Given the description of an element on the screen output the (x, y) to click on. 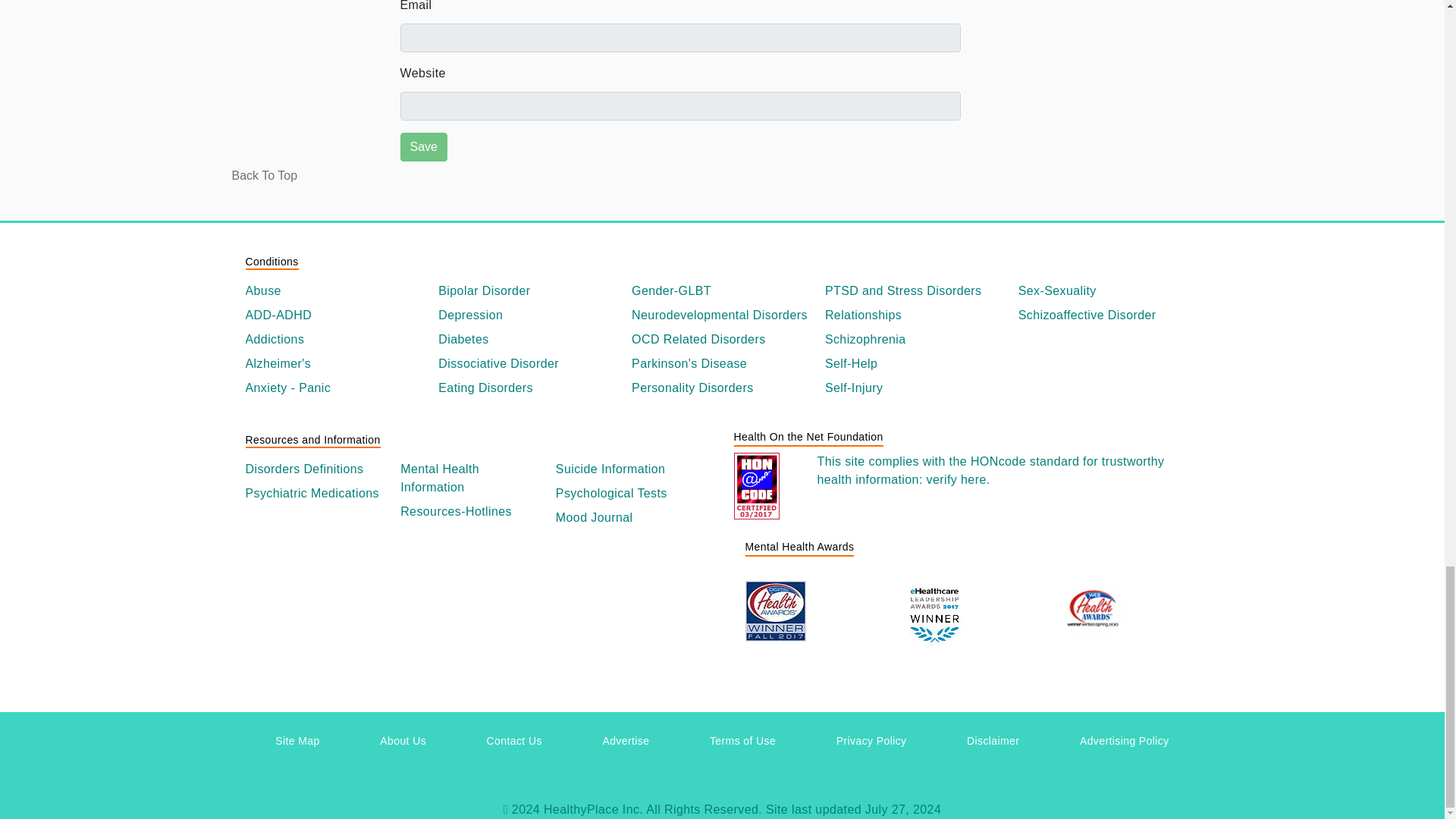
Parkinson's Disease Information Articles (721, 363)
